Given the description of an element on the screen output the (x, y) to click on. 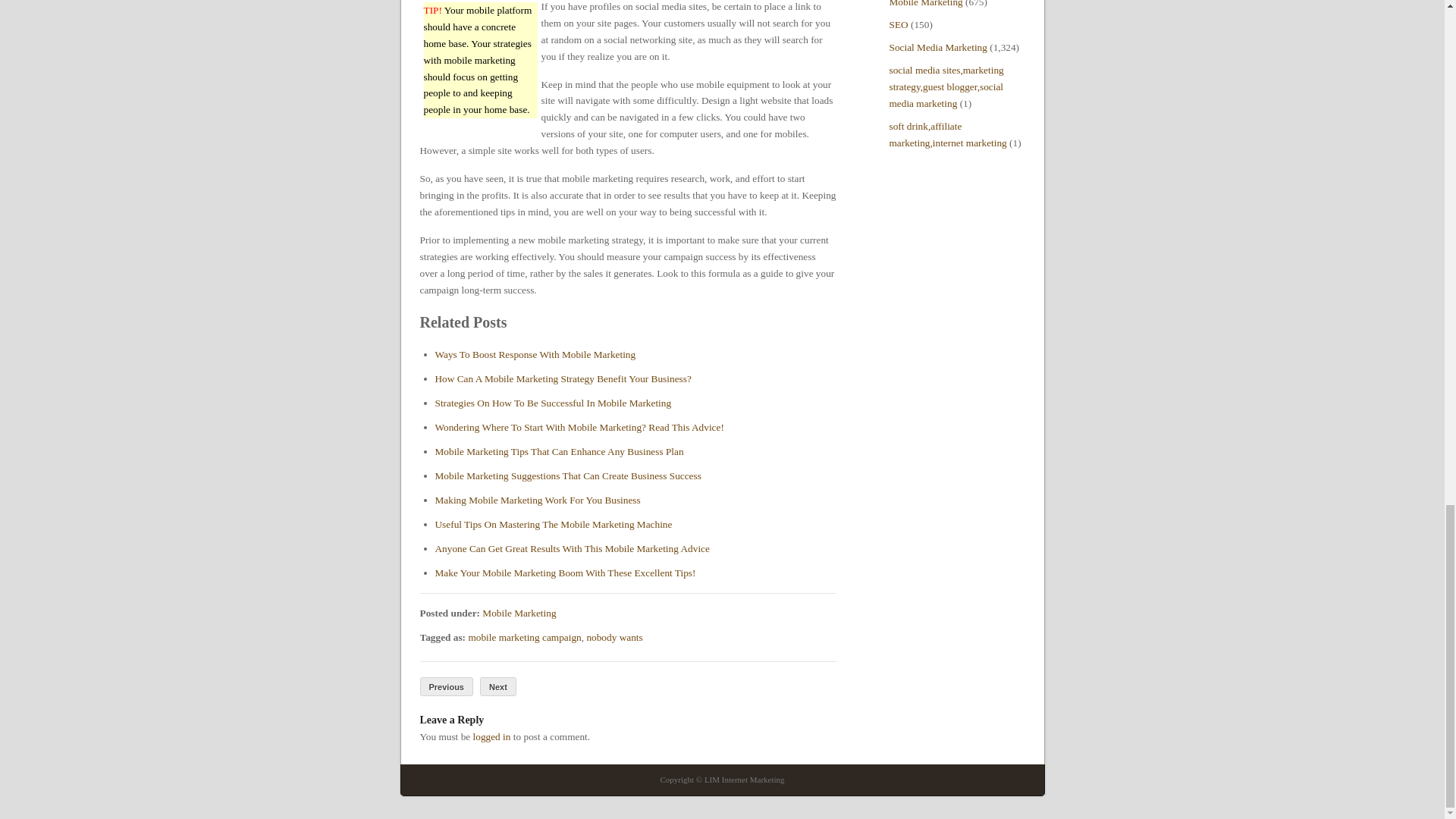
Mobile Marketing Tips That Can Enhance Any Business Plan (559, 451)
mobile marketing campaign (523, 636)
Useful Tips On Mastering The Mobile Marketing Machine (553, 523)
How Can A Mobile Marketing Strategy Benefit Your Business? (563, 378)
How Can A Mobile Marketing Strategy Benefit Your Business? (563, 378)
Mobile Marketing Tips That Can Enhance Any Business Plan (559, 451)
nobody wants (614, 636)
Previous (446, 686)
Useful Tips On Mastering The Mobile Marketing Machine (553, 523)
